Given the description of an element on the screen output the (x, y) to click on. 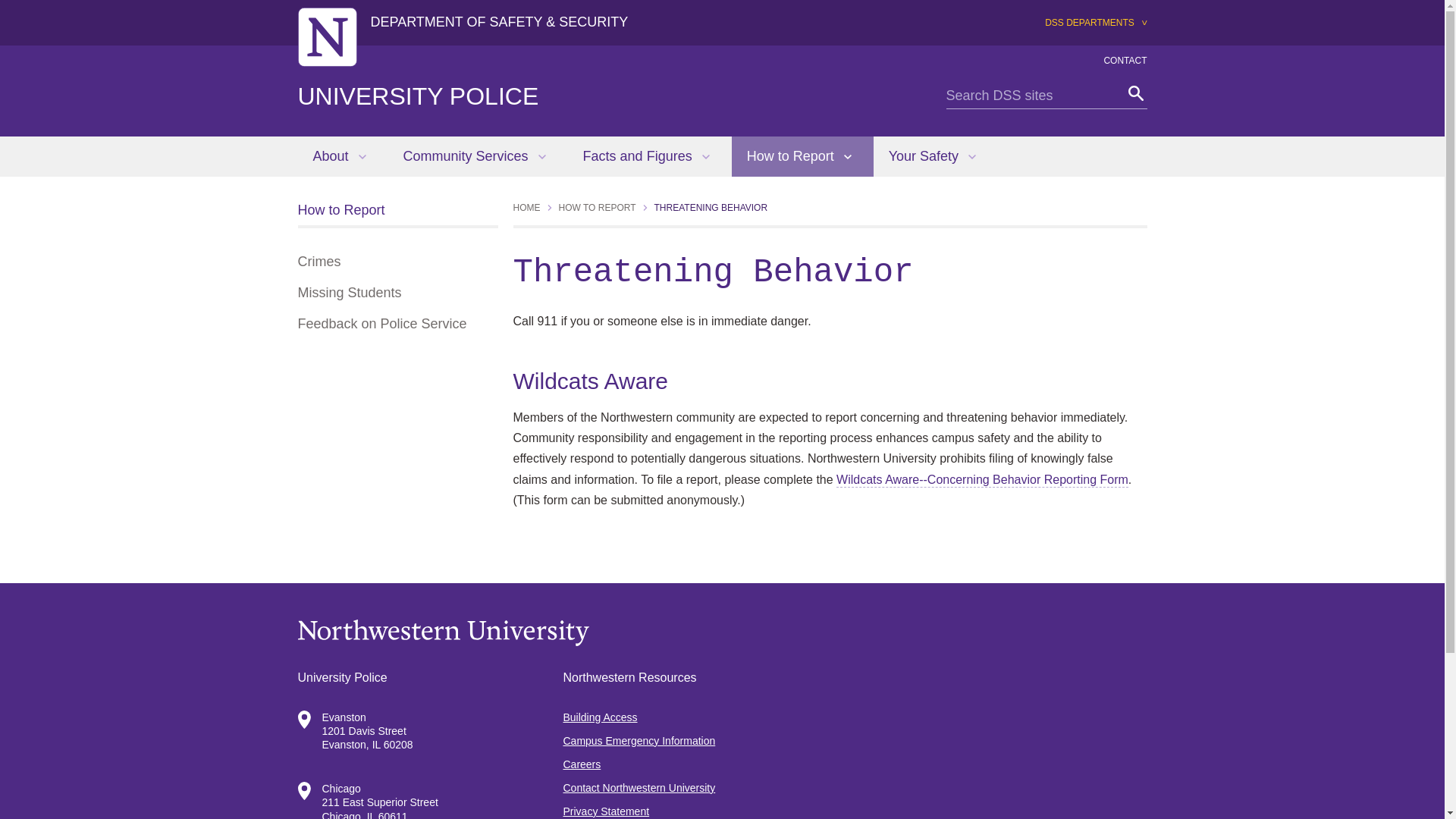
UNIVERSITY POLICE (417, 94)
CONTACT (1125, 60)
Northwestern University Home (326, 36)
Northwestern University Home (722, 632)
University Police Home (417, 94)
